Given the description of an element on the screen output the (x, y) to click on. 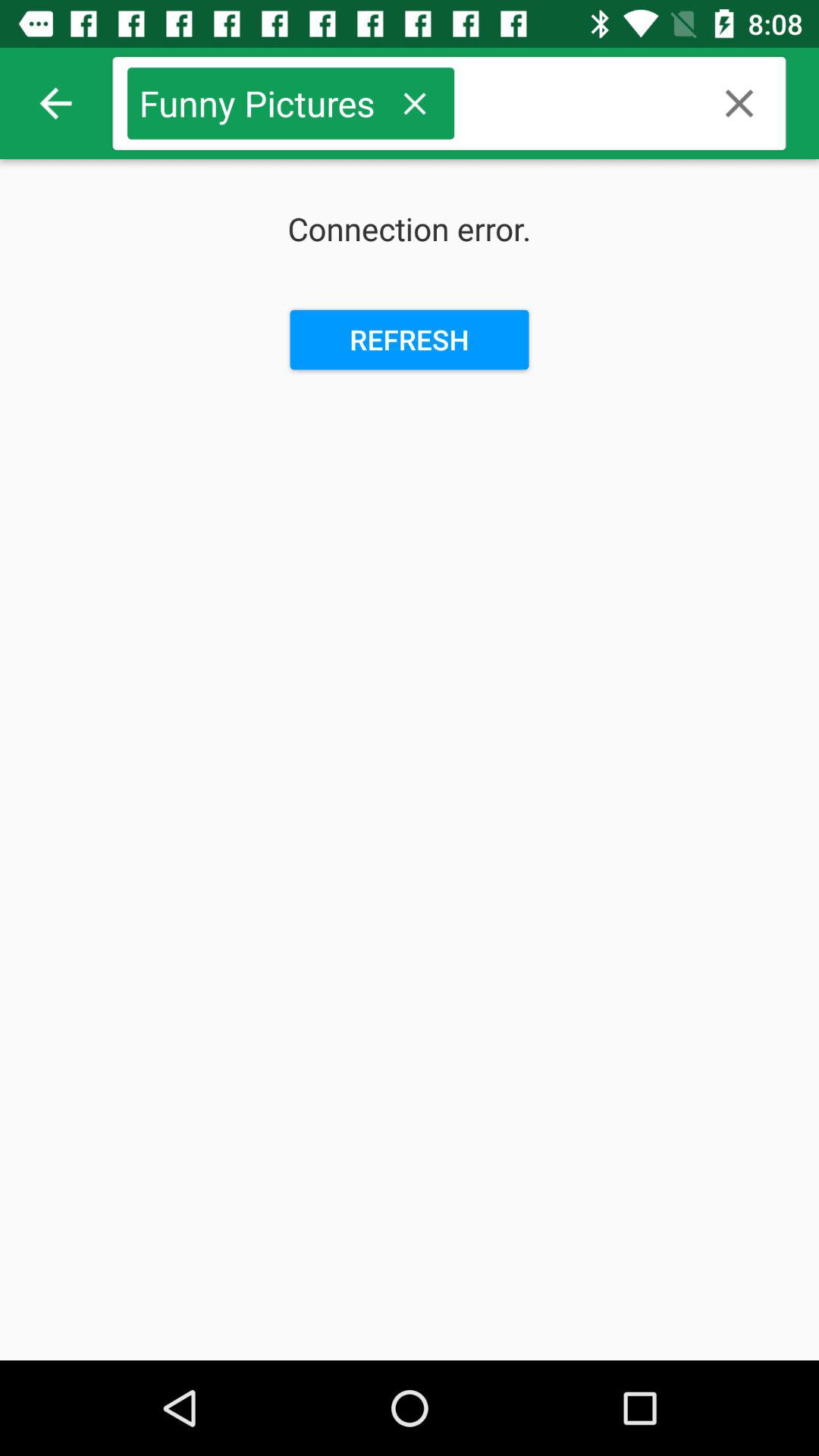
choose icon next to funny pictures item (414, 103)
